Given the description of an element on the screen output the (x, y) to click on. 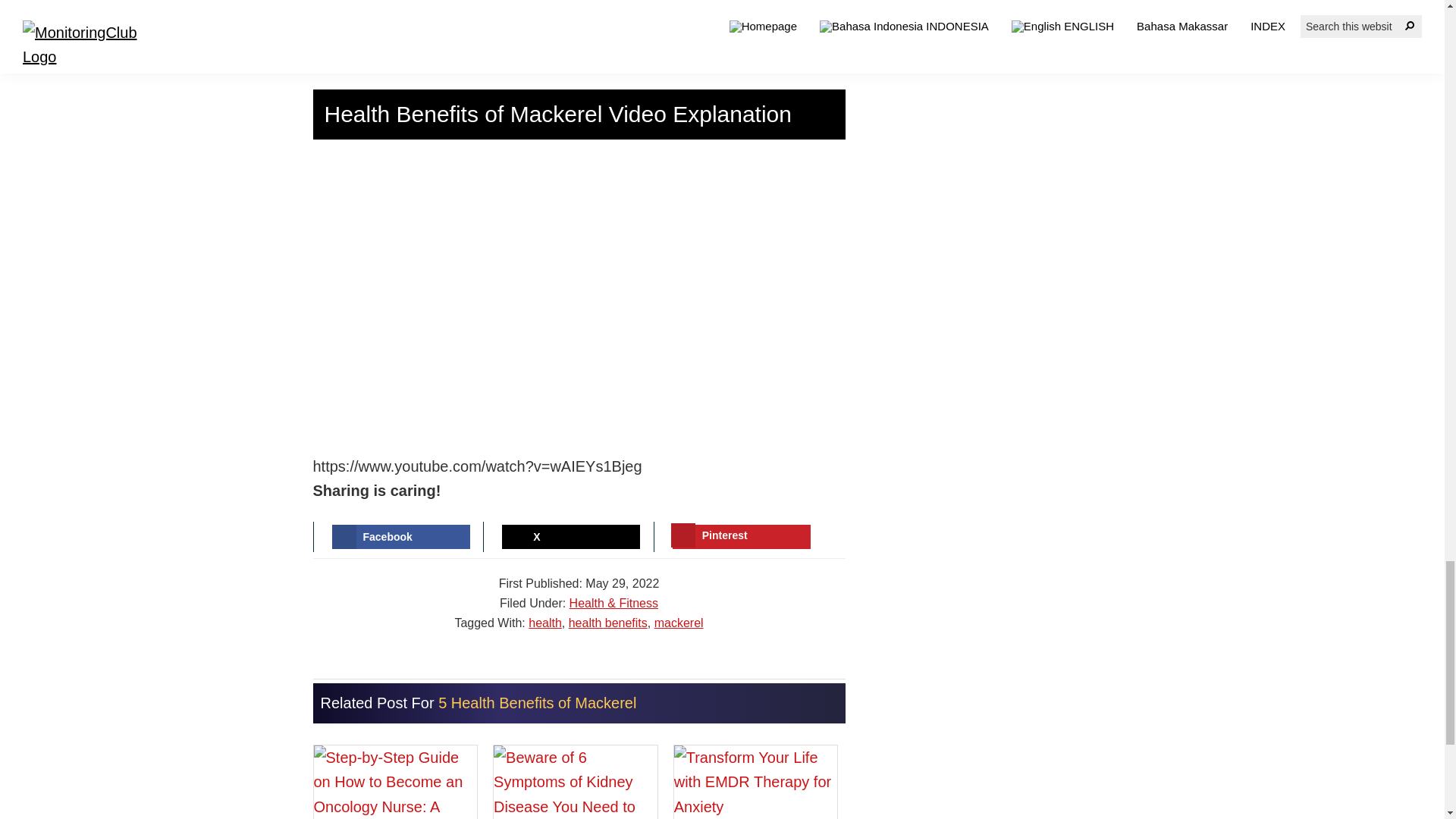
mackerel (678, 622)
Beware of 6 Symptoms of Kidney Disease You Need to Know (575, 782)
Share on X (571, 536)
Save to Pinterest (741, 536)
health benefits (608, 622)
Pinterest (741, 536)
Transform Your Life with EMDR Therapy for Anxiety (756, 782)
Share on Facebook (400, 536)
health (545, 622)
